Given the description of an element on the screen output the (x, y) to click on. 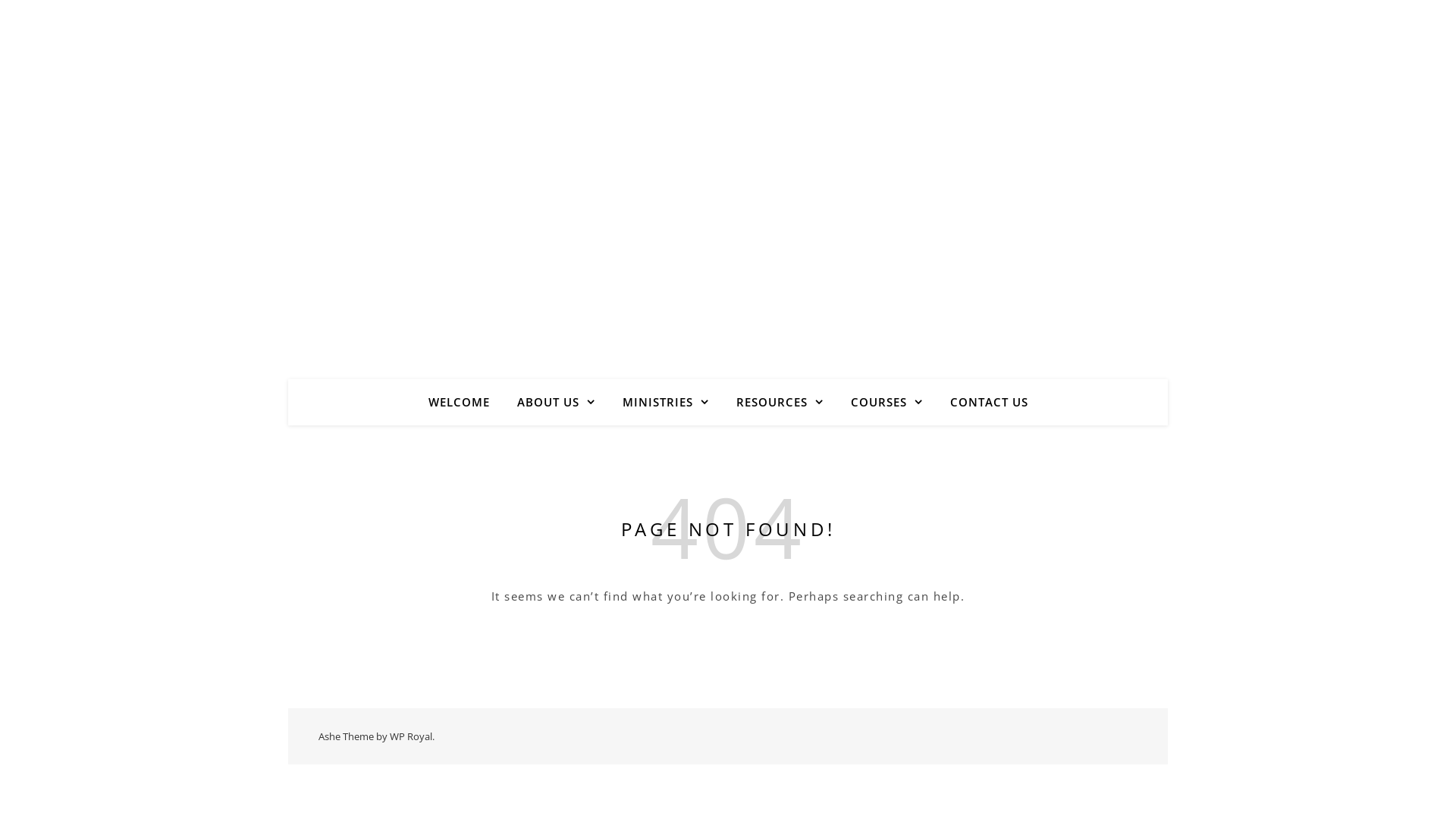
WP Royal Element type: text (410, 736)
CONTACT US Element type: text (982, 401)
RESOURCES Element type: text (778, 402)
MINISTRIES Element type: text (664, 402)
WELCOME Element type: text (464, 401)
COURSES Element type: text (886, 402)
ABOUT US Element type: text (556, 402)
